Given the description of an element on the screen output the (x, y) to click on. 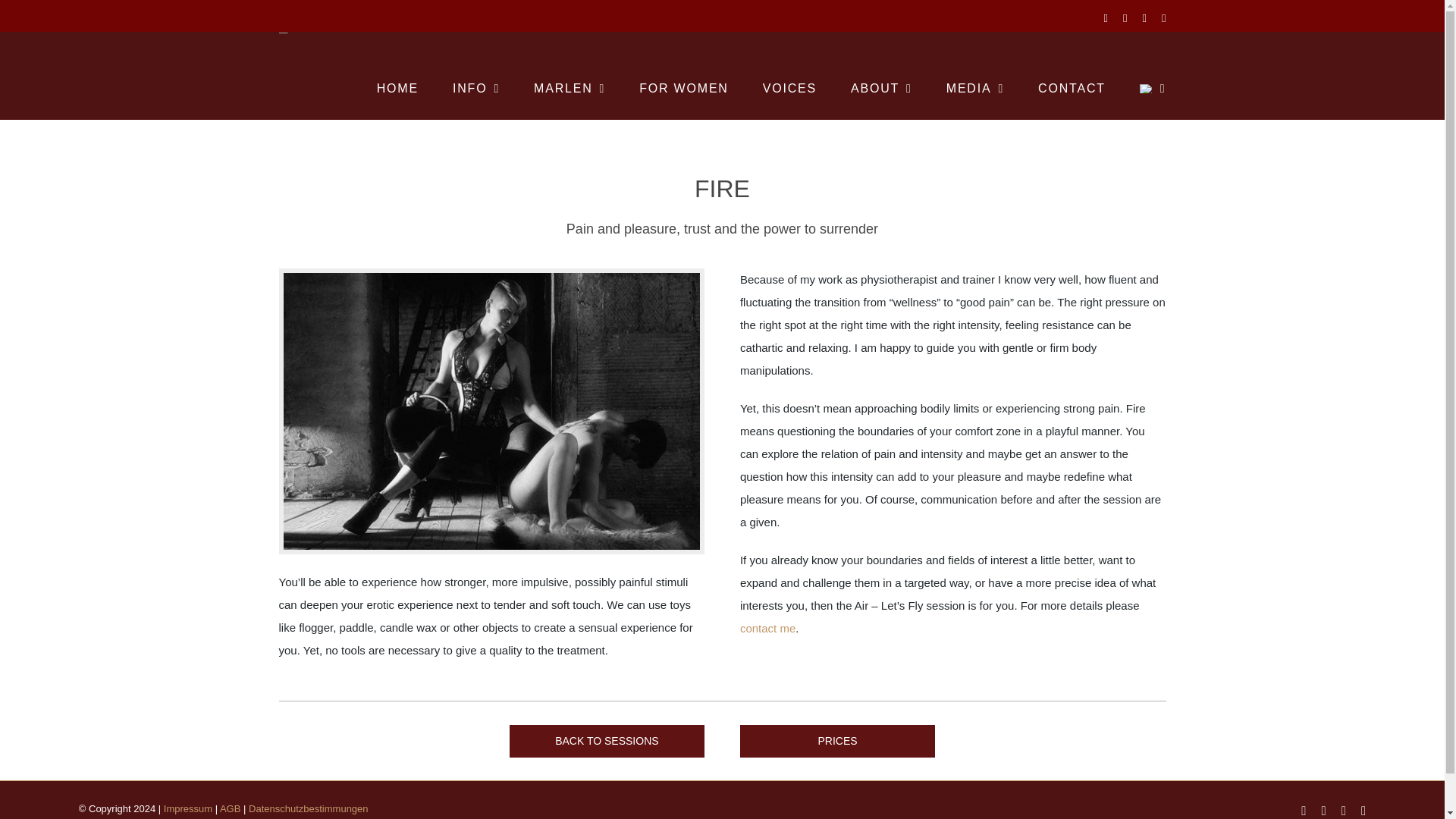
MARLEN (569, 86)
FOR WOMEN (684, 86)
Session Fire (491, 410)
ABOUT (881, 86)
MEDIA (975, 86)
CONTACT (1071, 86)
